Given the description of an element on the screen output the (x, y) to click on. 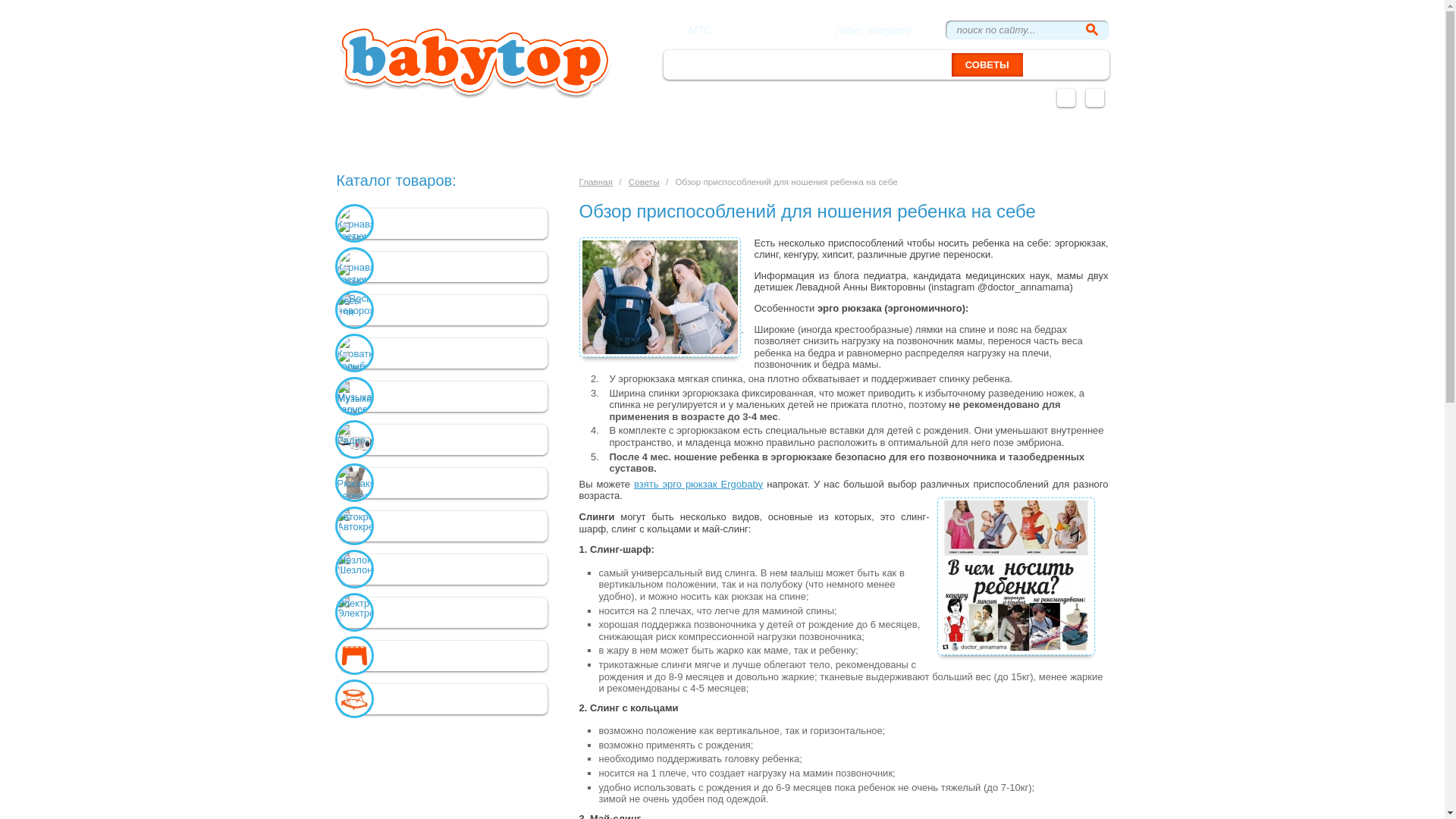
  Element type: text (1091, 29)
+375 (29) 739-73-83 Element type: text (774, 30)
